Given the description of an element on the screen output the (x, y) to click on. 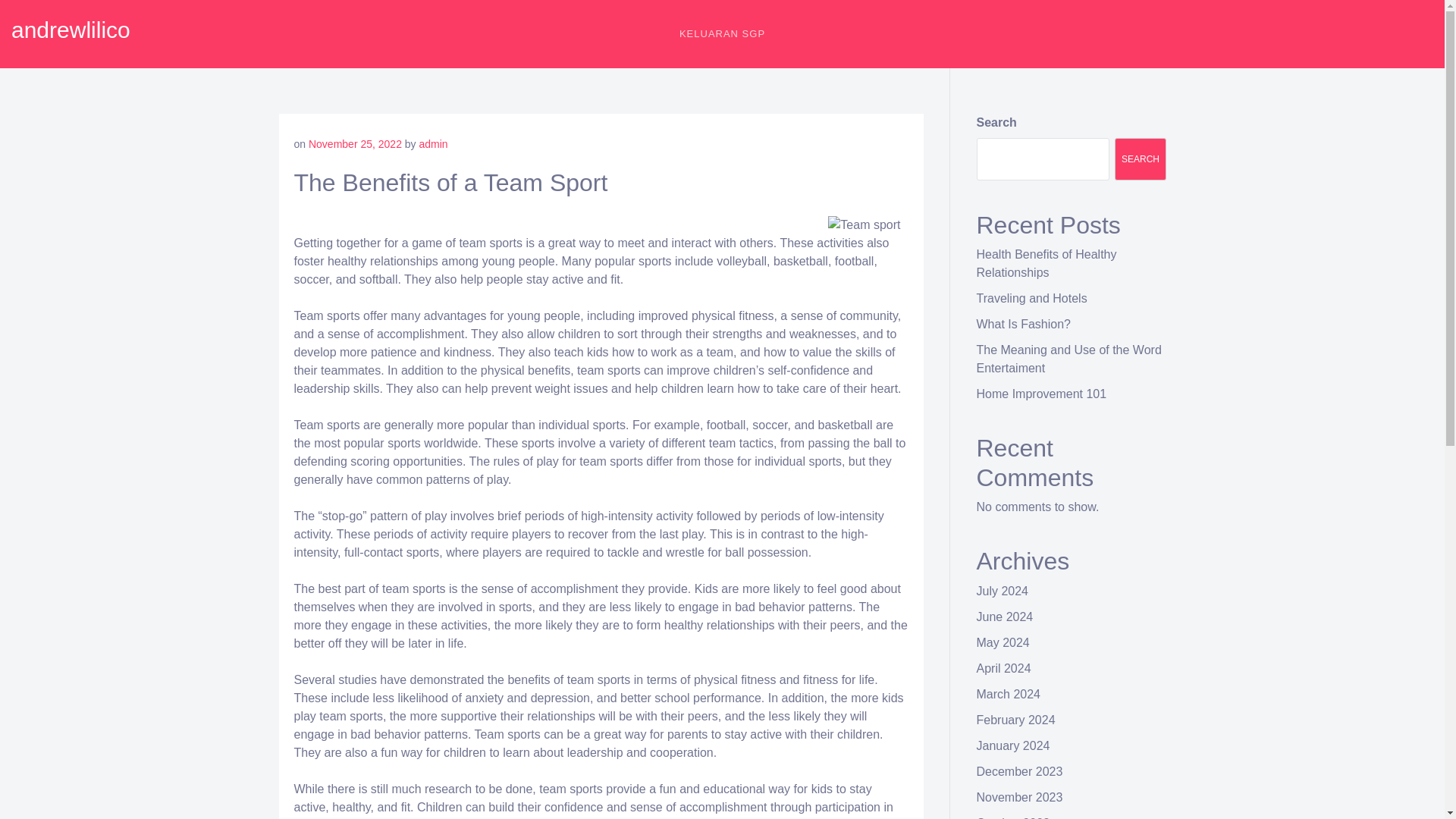
November 25, 2022 (354, 143)
February 2024 (1015, 719)
December 2023 (1019, 771)
Health Benefits of Healthy Relationships (1046, 263)
The Meaning and Use of the Word Entertaiment (1068, 358)
Traveling and Hotels (1031, 297)
Home Improvement 101 (1041, 393)
October 2023 (1012, 817)
May 2024 (1002, 642)
KELUARAN SGP (722, 33)
April 2024 (1003, 667)
What Is Fashion? (1023, 323)
January 2024 (1012, 745)
SEARCH (1140, 159)
June 2024 (1004, 616)
